Given the description of an element on the screen output the (x, y) to click on. 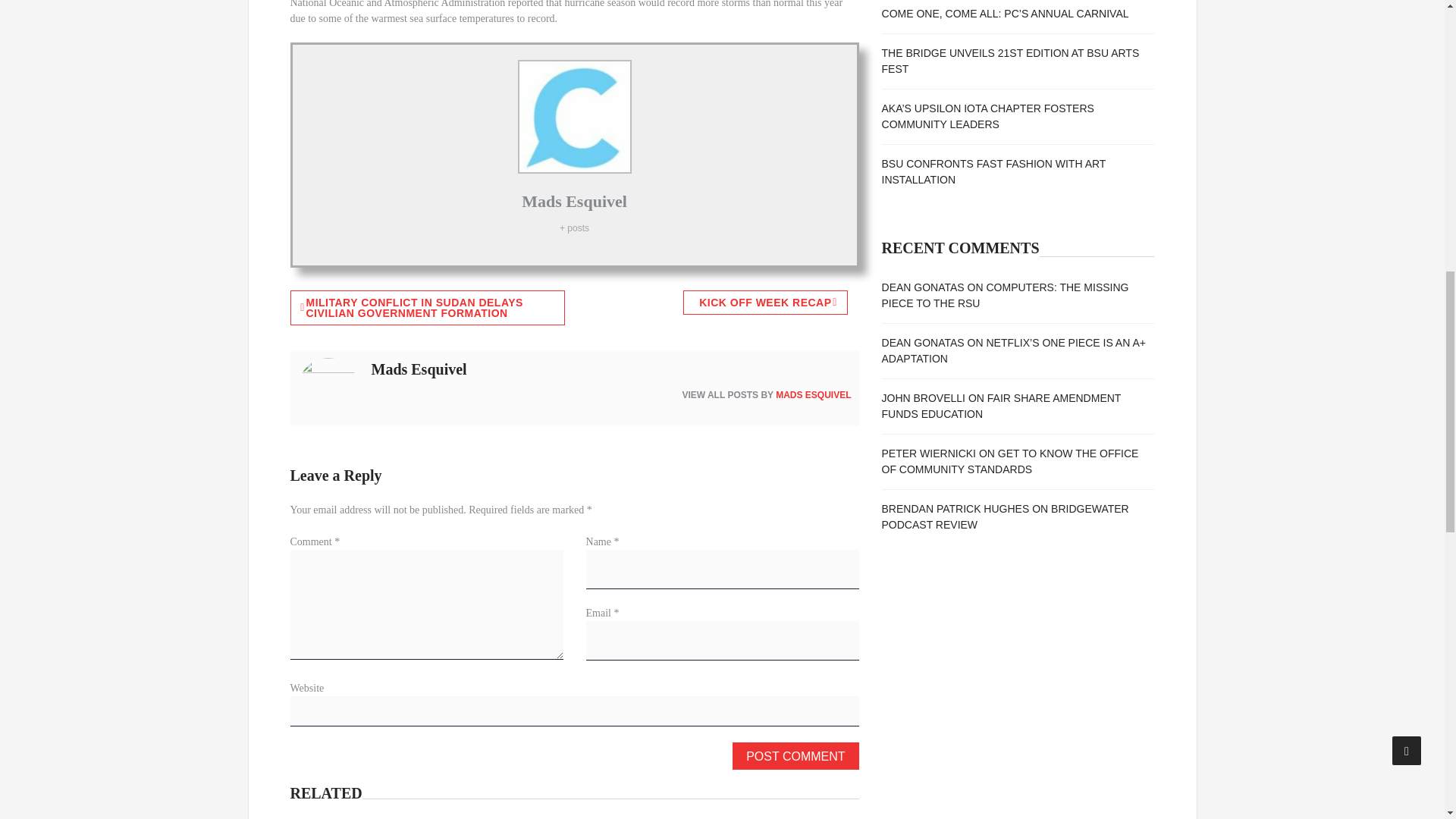
Post Comment (795, 755)
MADS ESQUIVEL (813, 394)
Mads Esquivel (574, 200)
Post Comment (795, 755)
KICK OFF WEEK RECAP (764, 302)
